Given the description of an element on the screen output the (x, y) to click on. 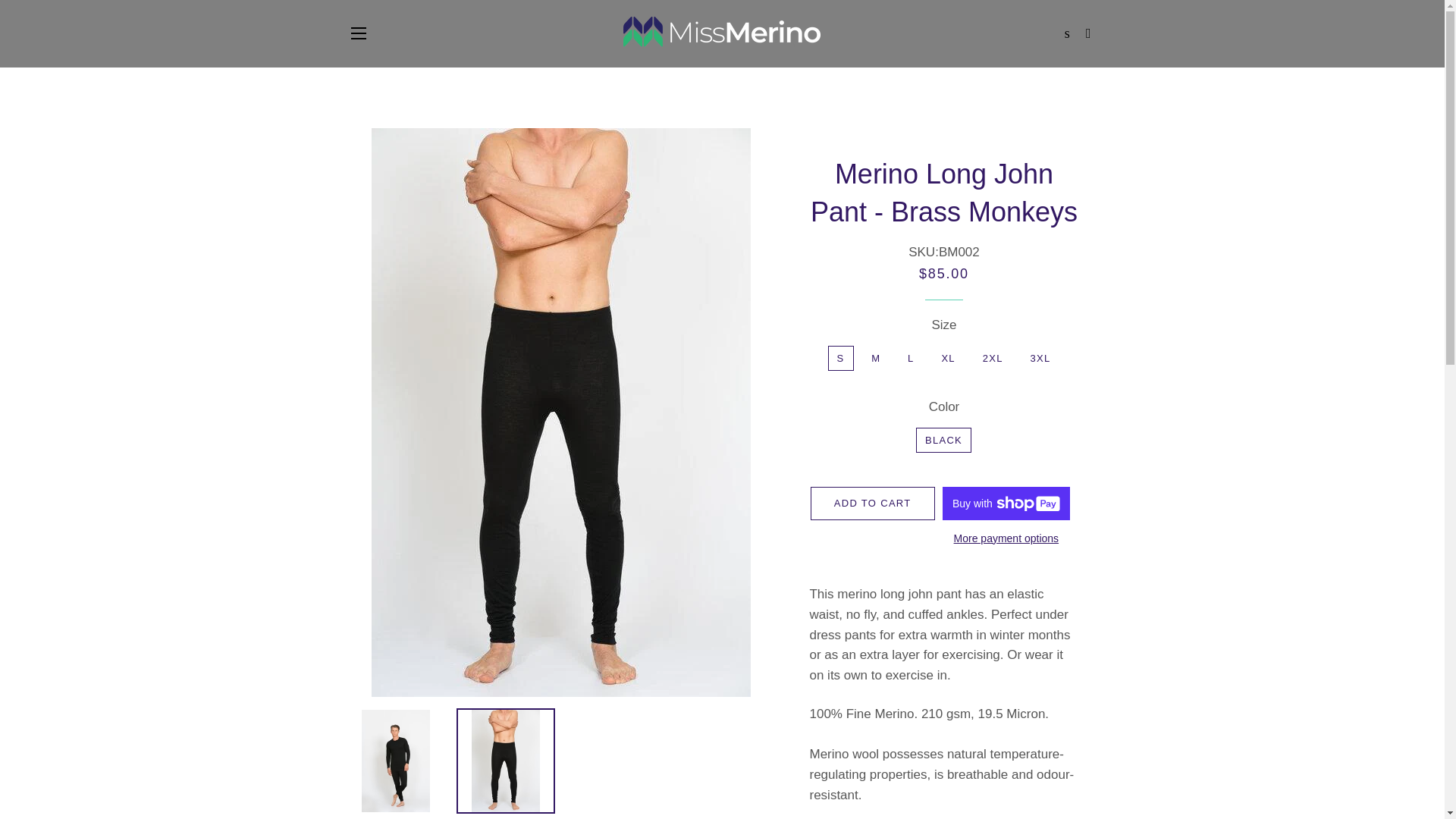
SITE NAVIGATION (358, 33)
